Given the description of an element on the screen output the (x, y) to click on. 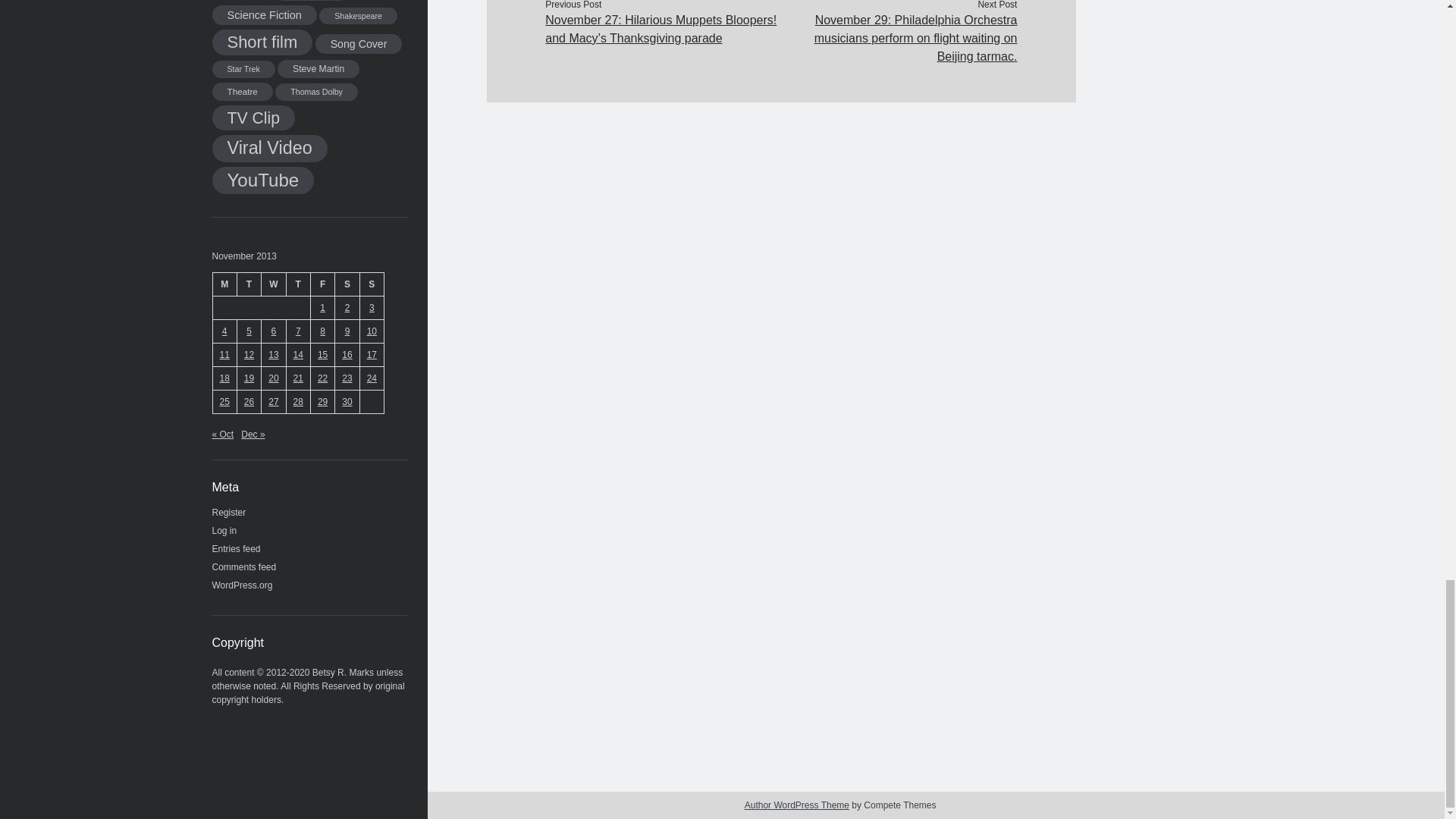
Tuesday (247, 283)
Thursday (297, 283)
Monday (223, 283)
Friday (322, 283)
Wednesday (273, 283)
Sunday (371, 283)
Saturday (346, 283)
